Given the description of an element on the screen output the (x, y) to click on. 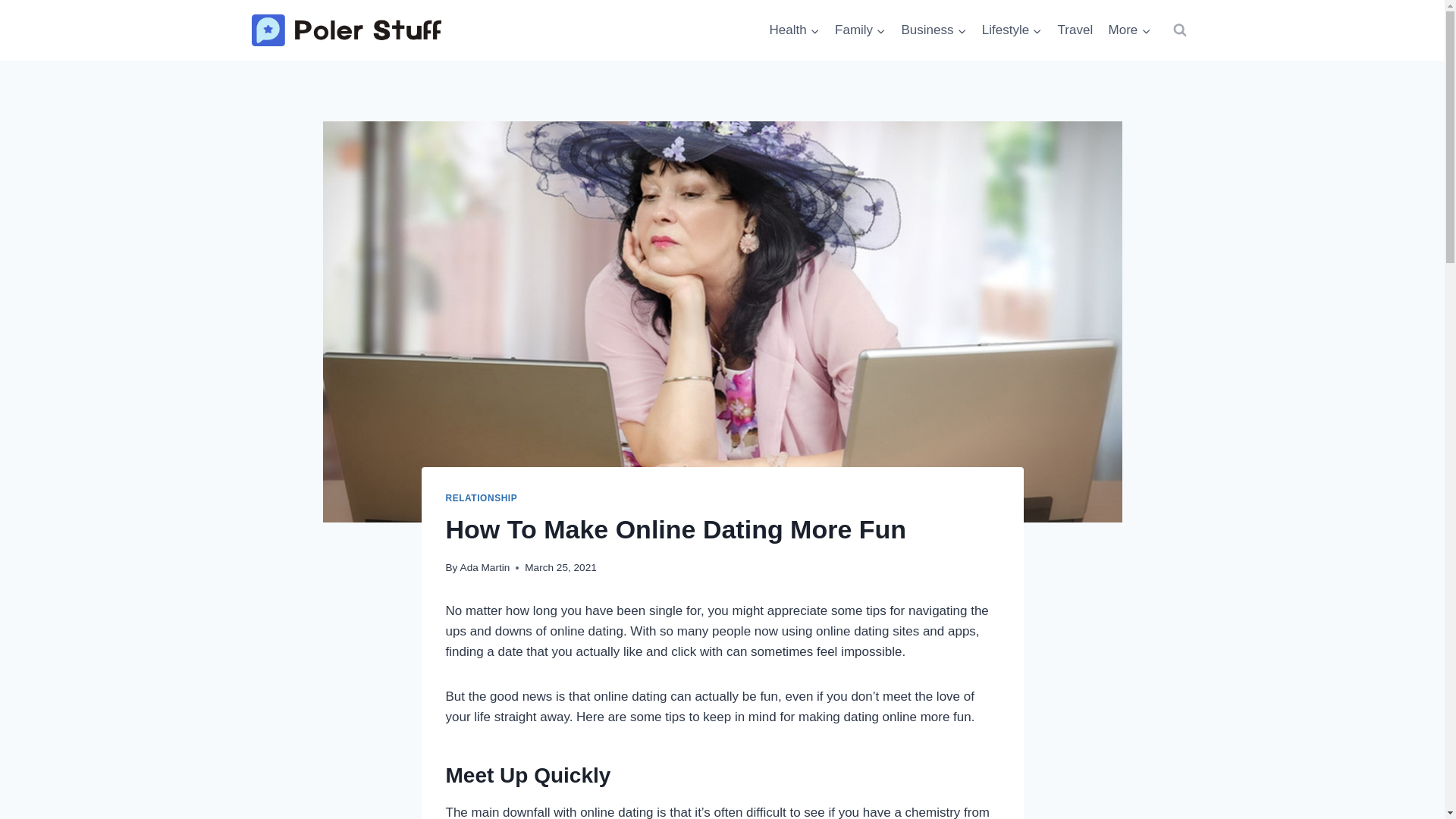
Business (933, 30)
Lifestyle (1011, 30)
Health (794, 30)
Travel (933, 30)
More (1074, 30)
Family (1128, 30)
